Given the description of an element on the screen output the (x, y) to click on. 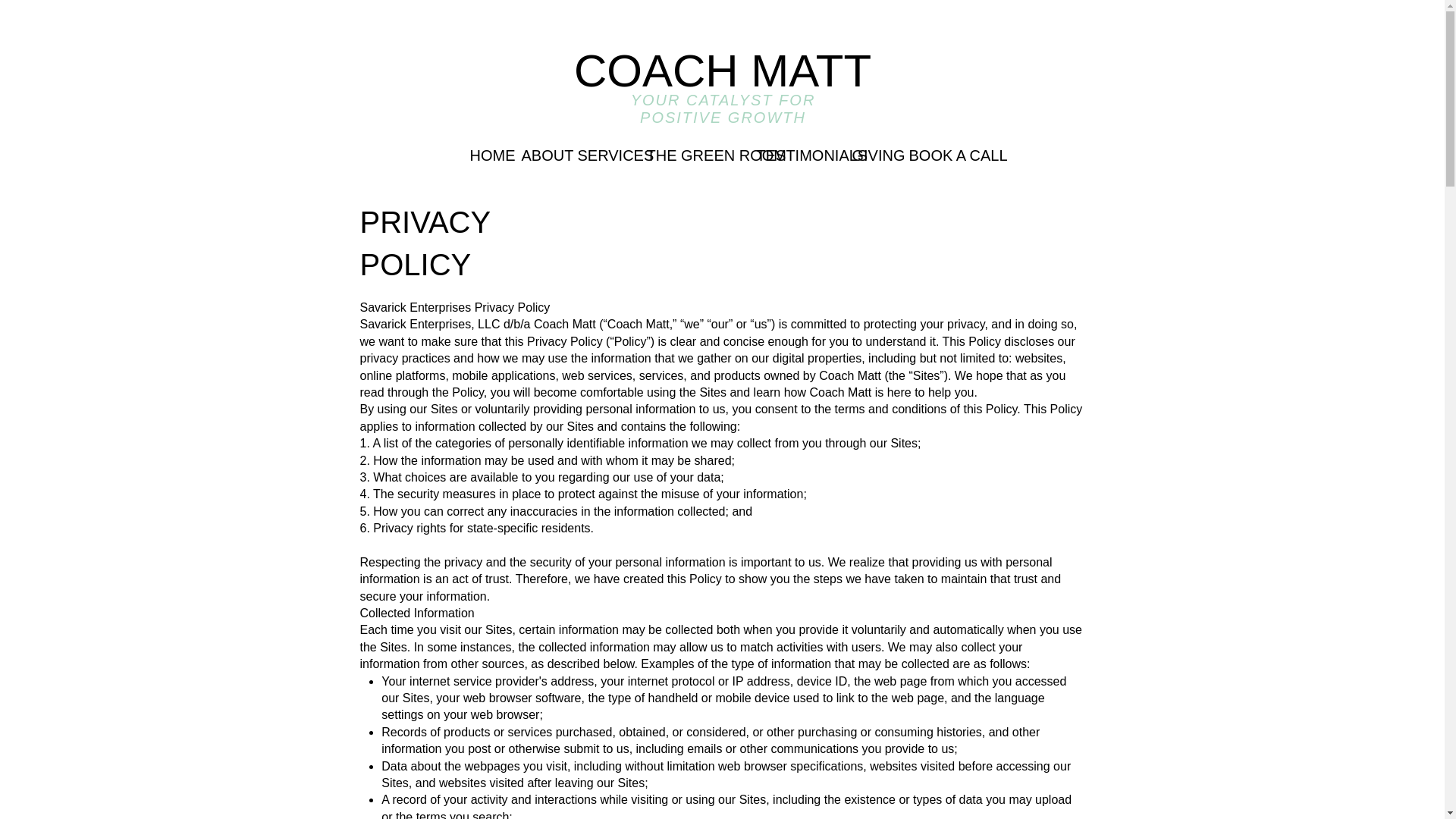
FOR POSITIVE GROWTH (727, 108)
COACH MATT (721, 70)
SERVICES (600, 155)
HOME (483, 155)
THE GREEN ROOM (689, 155)
YOUR CATALYST  (704, 99)
BOOK A CALL (942, 155)
GIVING (868, 155)
ABOUT (537, 155)
TESTIMONIALS (792, 155)
